Given the description of an element on the screen output the (x, y) to click on. 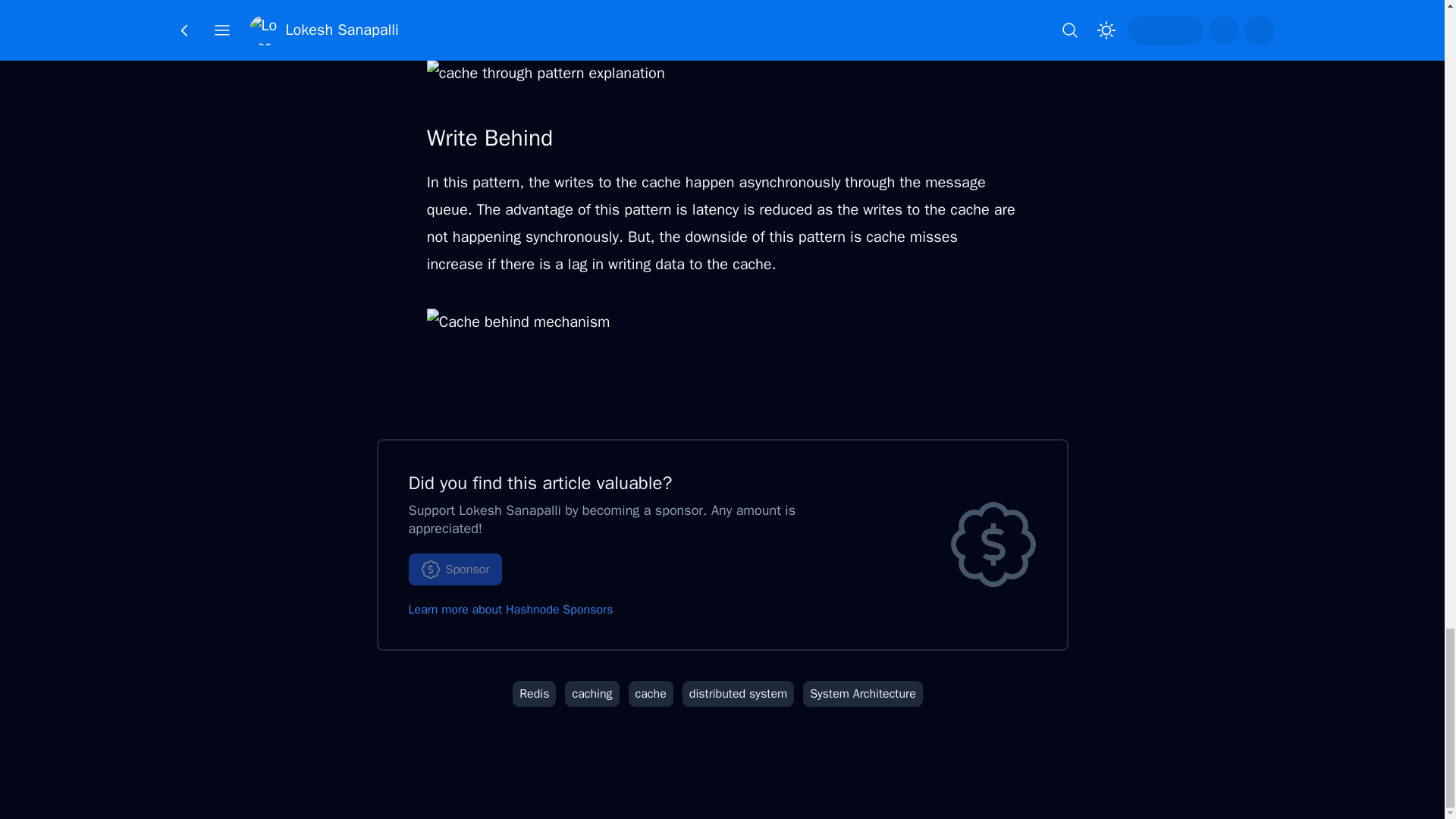
distributed system (737, 693)
Learn more about Hashnode Sponsors (509, 609)
System Architecture (863, 693)
Sponsor (454, 569)
Redis (534, 693)
AWS DAX which integrates with DynamoDB (583, 15)
cache (650, 693)
caching (591, 693)
